Given the description of an element on the screen output the (x, y) to click on. 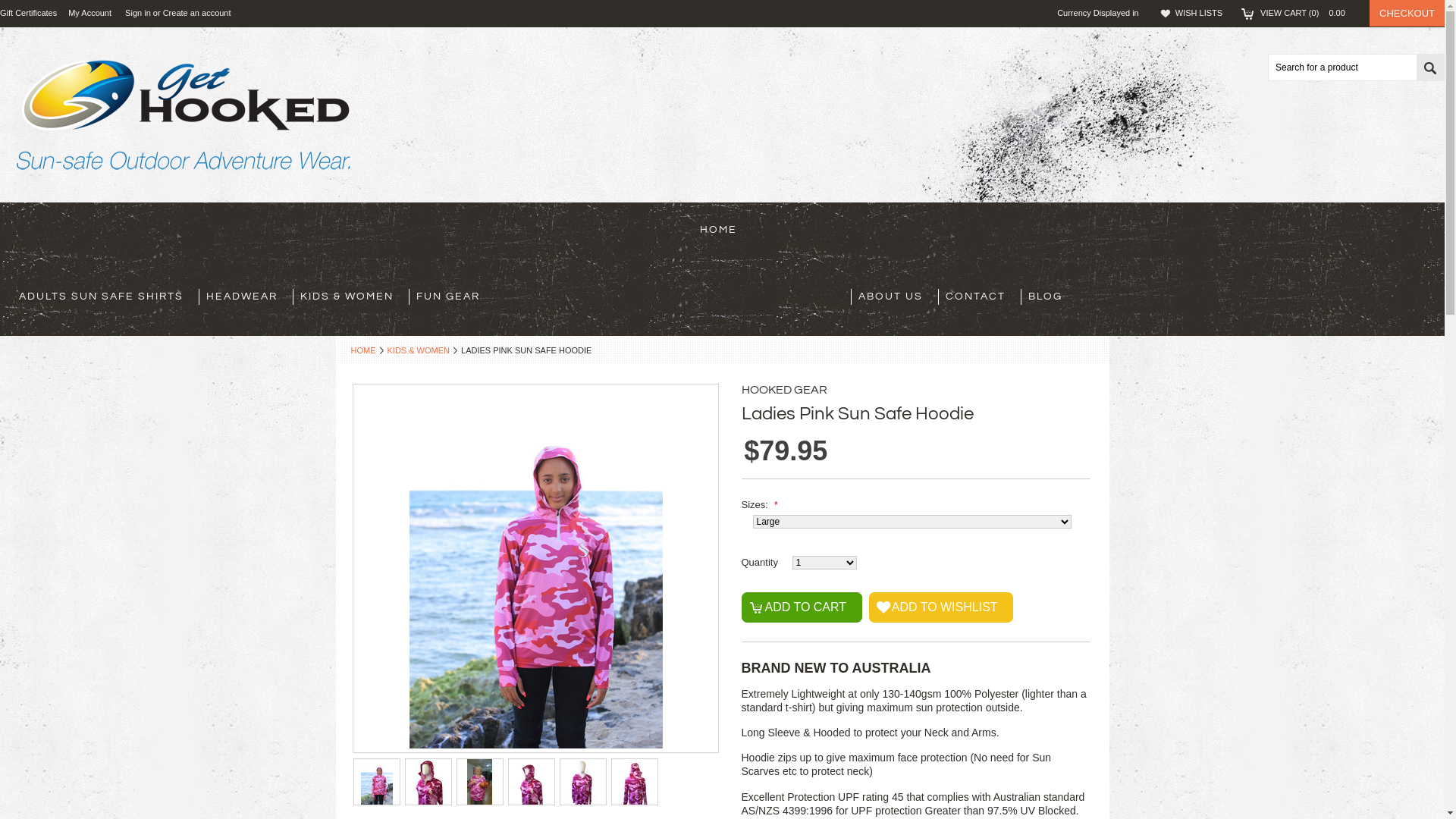
ABOUT US Element type: text (894, 296)
WISH LISTS Element type: text (1198, 12)
Ladies Pink Camo Hoodie Down Element type: hover (582, 781)
BLOG Element type: text (1048, 296)
HOOKED GEAR Element type: text (784, 389)
CONTACT Element type: text (978, 296)
0 Element type: text (531, 781)
0 Element type: text (376, 781)
HOME Element type: text (722, 230)
0 Element type: text (634, 781)
Ladies Pink Camo Hoodie  Element type: hover (428, 781)
SEARCH Element type: text (1429, 67)
Ladies Pink Camo Hoodie  Element type: hover (535, 566)
0 Element type: text (582, 781)
Ladies Pink Camo Hoodie Full Zipped Element type: hover (531, 781)
KIDS & WOMEN Element type: text (350, 296)
Add to Cart Element type: text (801, 607)
ADULTS SUN SAFE SHIRTS Element type: text (105, 296)
Ladies Sun Safe Pink Camo Hoodie Element type: hover (479, 781)
Ladies Pink Camo Hoodie  Element type: hover (376, 781)
0 Element type: text (479, 781)
0 Element type: text (427, 781)
CHECKOUT Element type: text (1406, 13)
FUN GEAR Element type: text (451, 296)
HEADWEAR Element type: text (245, 296)
Sign in Element type: text (137, 13)
Ladies Pink Camo Hoodie Back Element type: hover (634, 781)
Create an account Element type: text (197, 13)
KIDS & WOMEN Element type: text (421, 349)
My Account Element type: text (89, 12)
VIEW CART (0) 0.00     Element type: text (1307, 12)
Gift Certificates Element type: text (28, 12)
HOME Element type: text (366, 349)
